Given the description of an element on the screen output the (x, y) to click on. 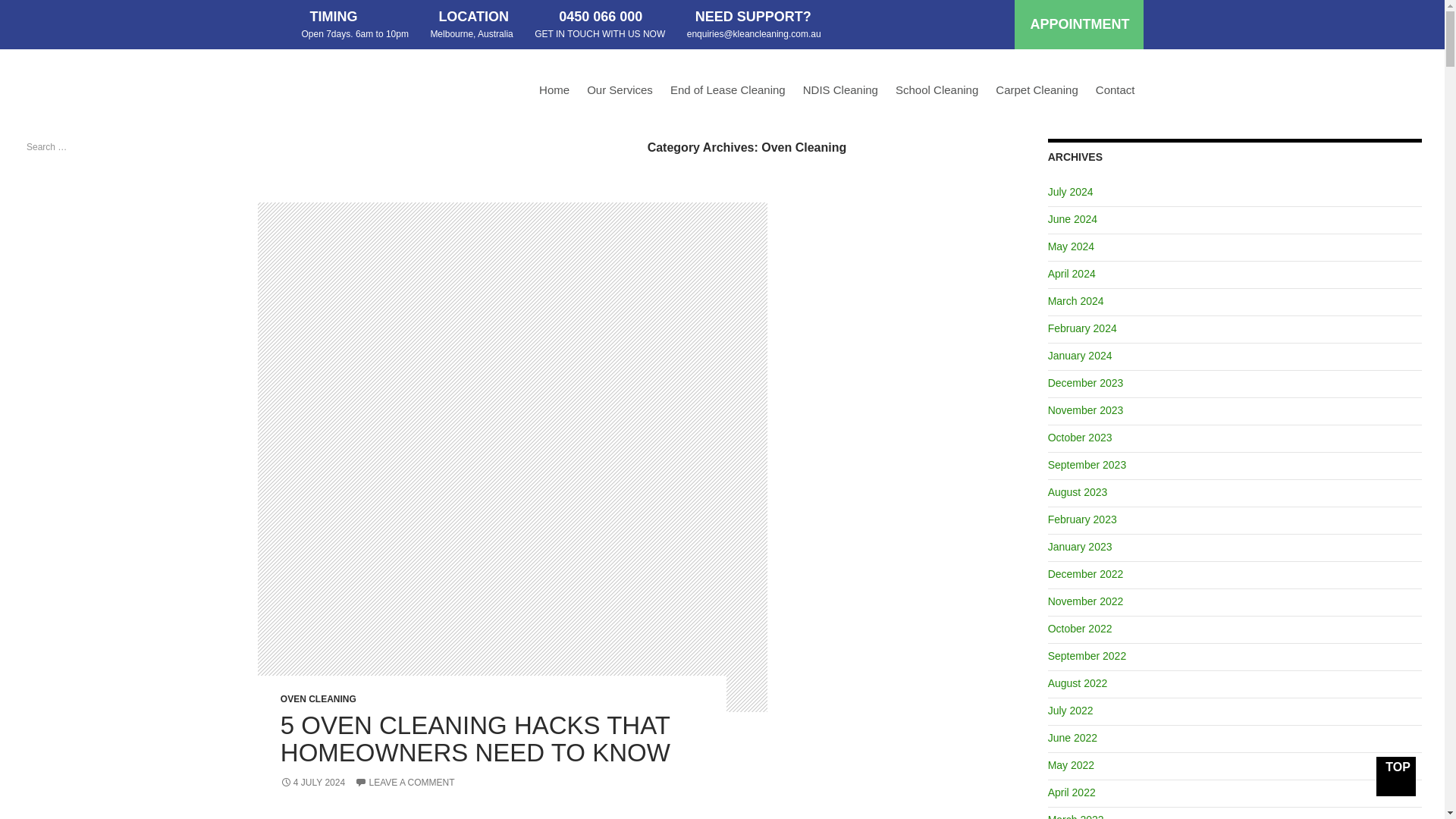
End of Lease Cleaning (727, 93)
0450 066 000 (583, 16)
NDIS Cleaning (839, 93)
APPOINTMENT (1078, 23)
School Cleaning (936, 93)
Carpet Cleaning (1036, 93)
Our Services (620, 93)
OVEN CLEANING (318, 471)
